Given the description of an element on the screen output the (x, y) to click on. 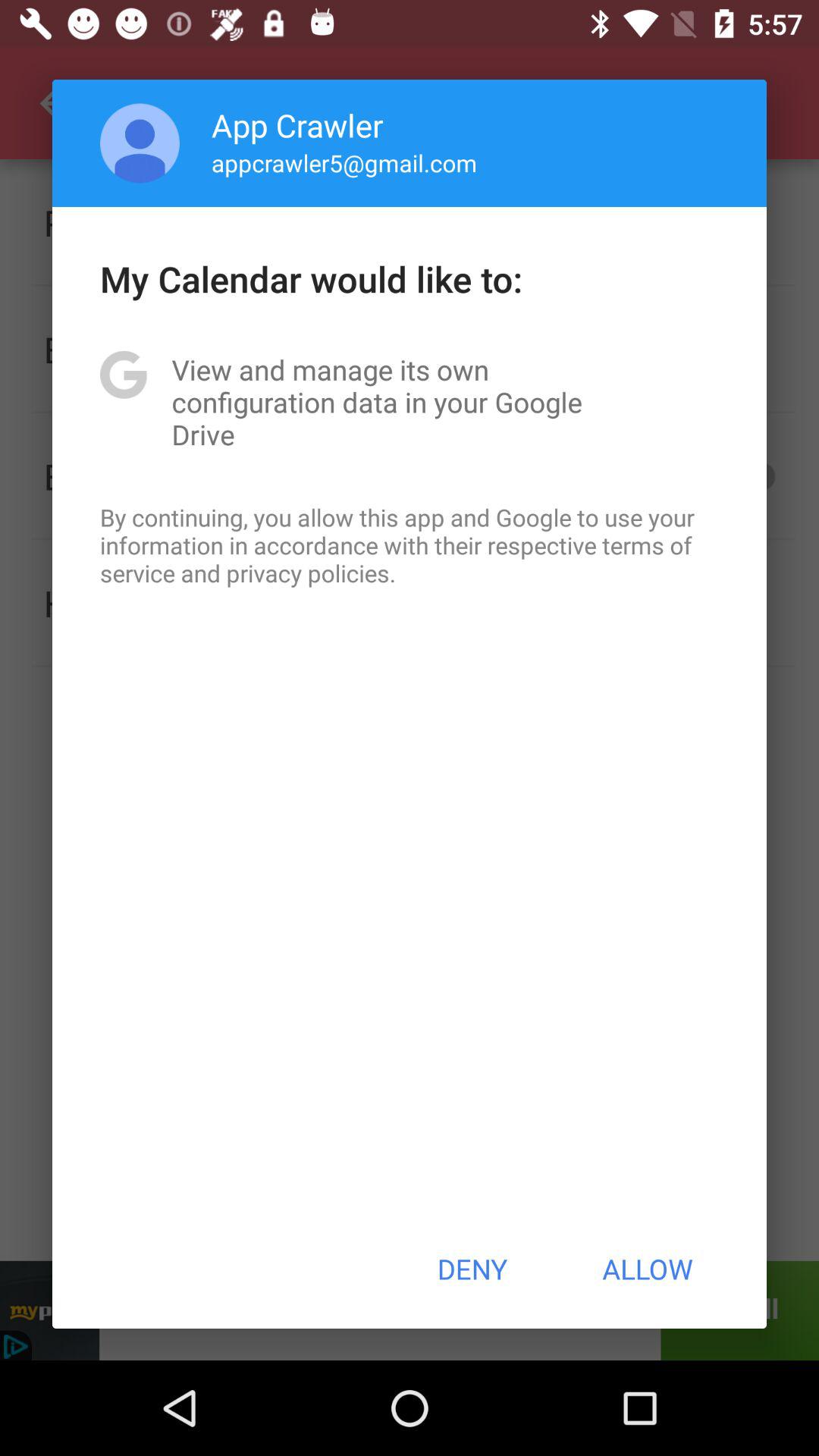
tap the app above the my calendar would app (344, 162)
